Given the description of an element on the screen output the (x, y) to click on. 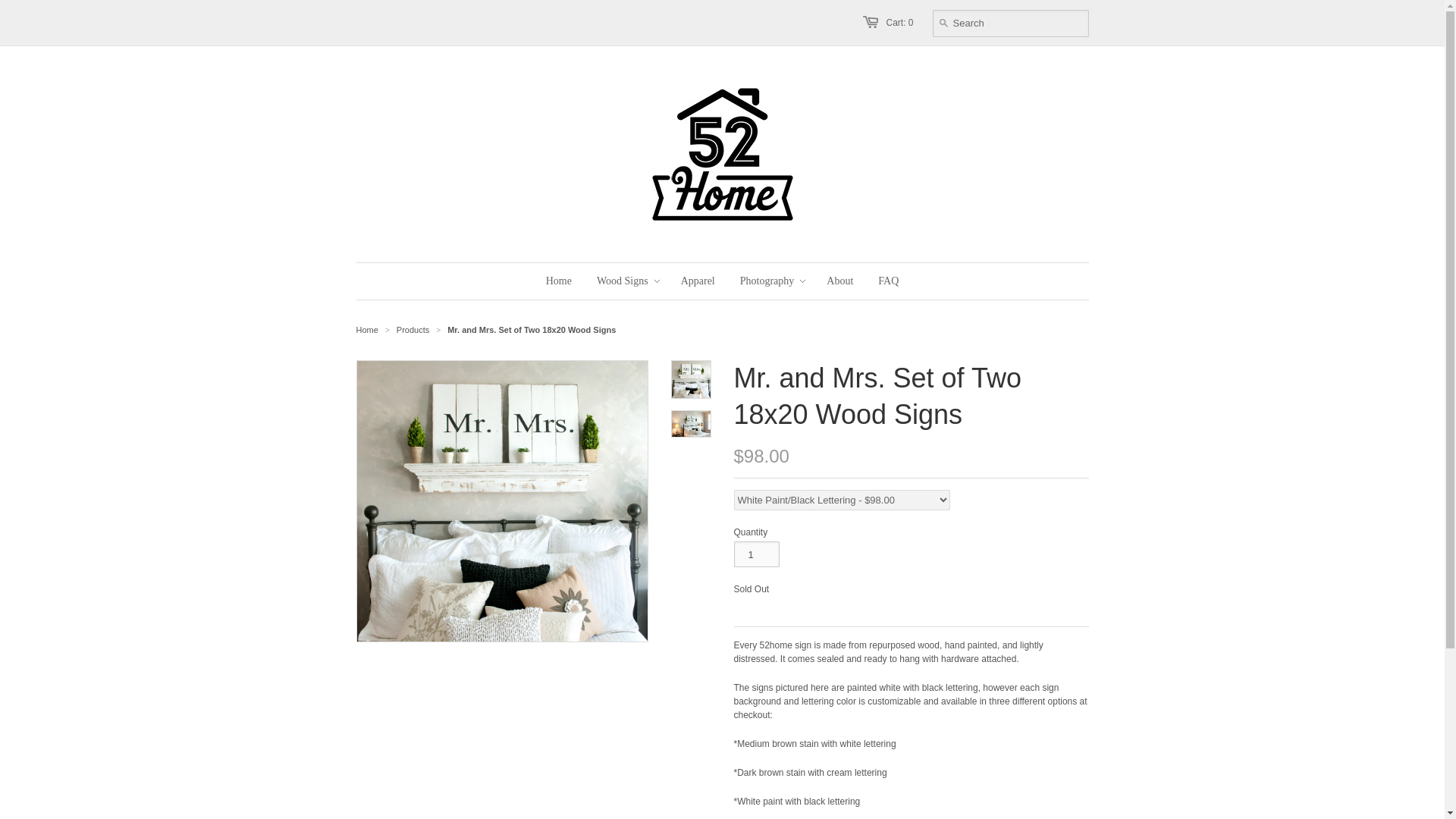
Shopping Cart (898, 22)
52home (367, 329)
Home (558, 280)
Photography (767, 280)
About (839, 280)
Products (413, 329)
Cart: 0 (898, 22)
Wood Signs (622, 280)
Apparel (697, 280)
Home (367, 329)
